Given the description of an element on the screen output the (x, y) to click on. 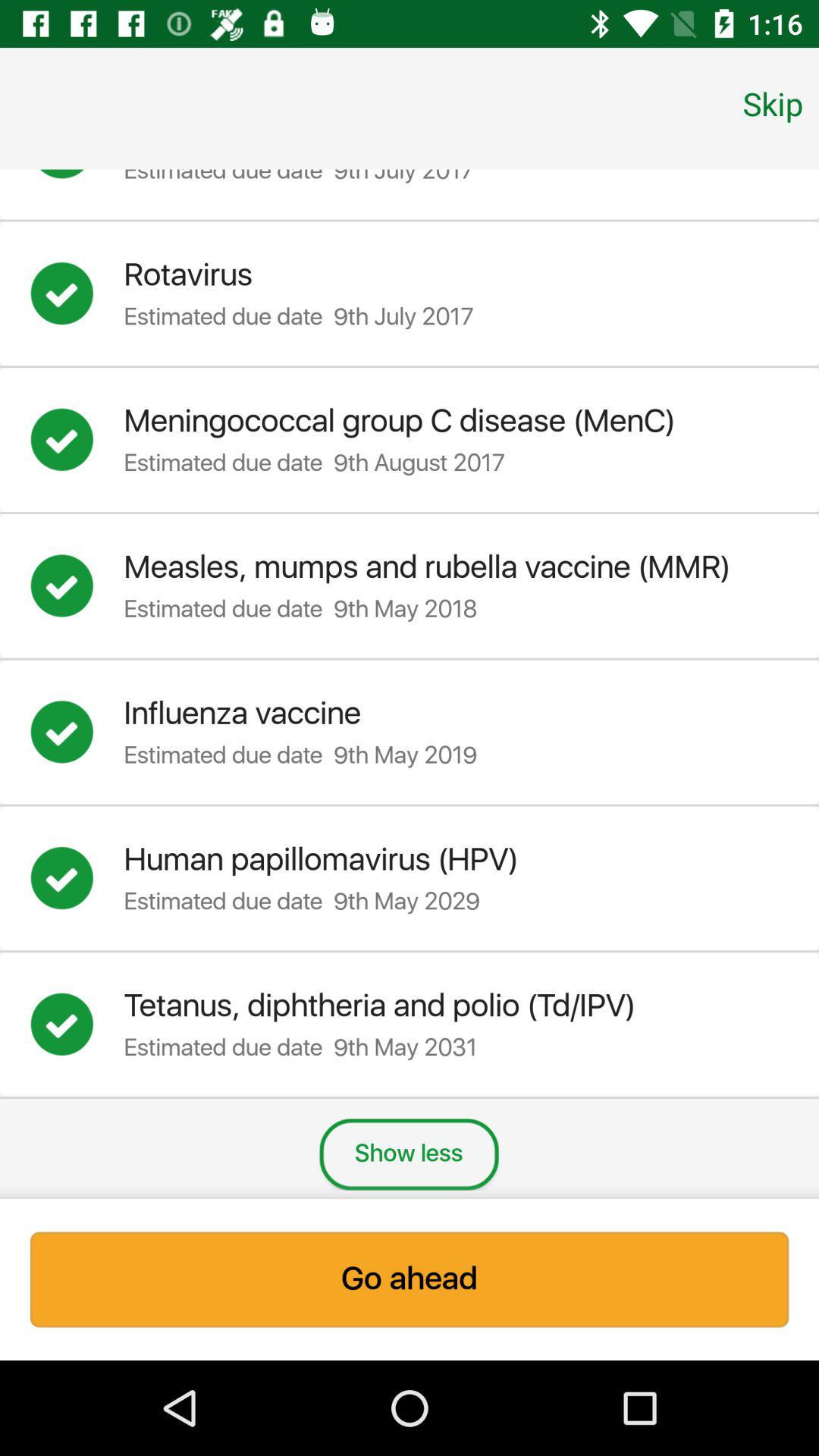
choose the icon at the top right corner (772, 103)
